Given the description of an element on the screen output the (x, y) to click on. 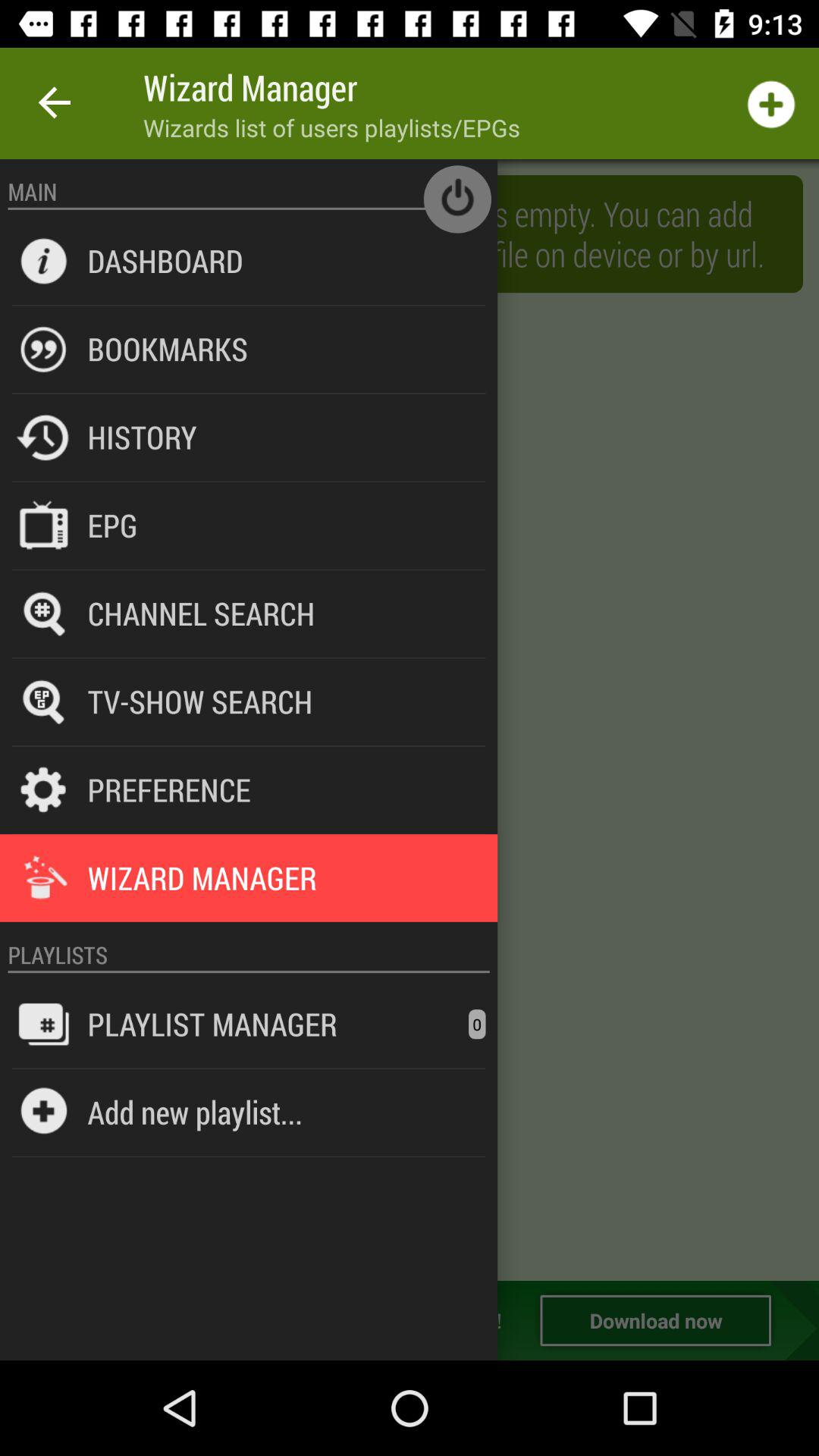
select history item (141, 436)
